Given the description of an element on the screen output the (x, y) to click on. 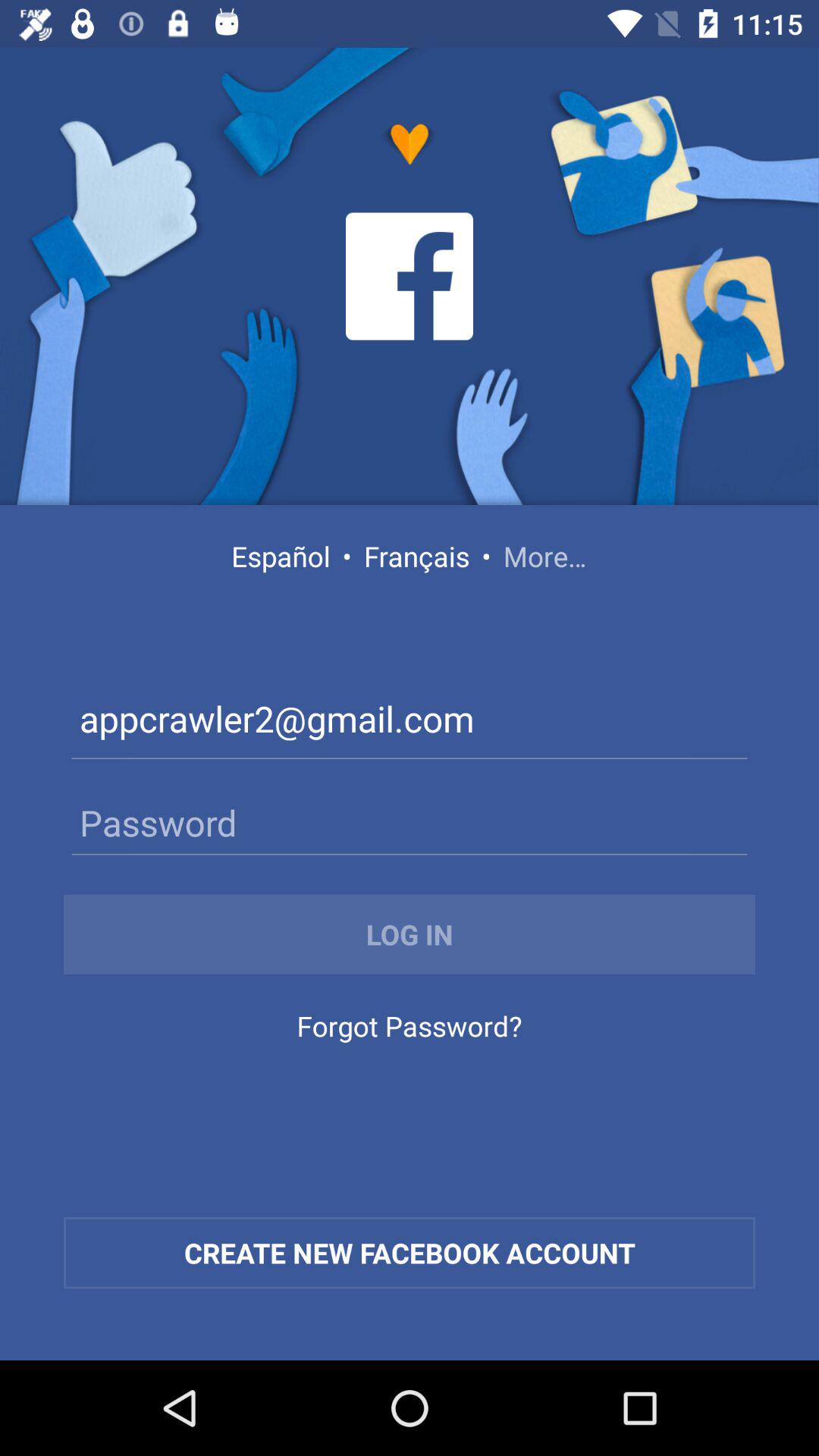
swipe to forgot password? icon (409, 1029)
